Given the description of an element on the screen output the (x, y) to click on. 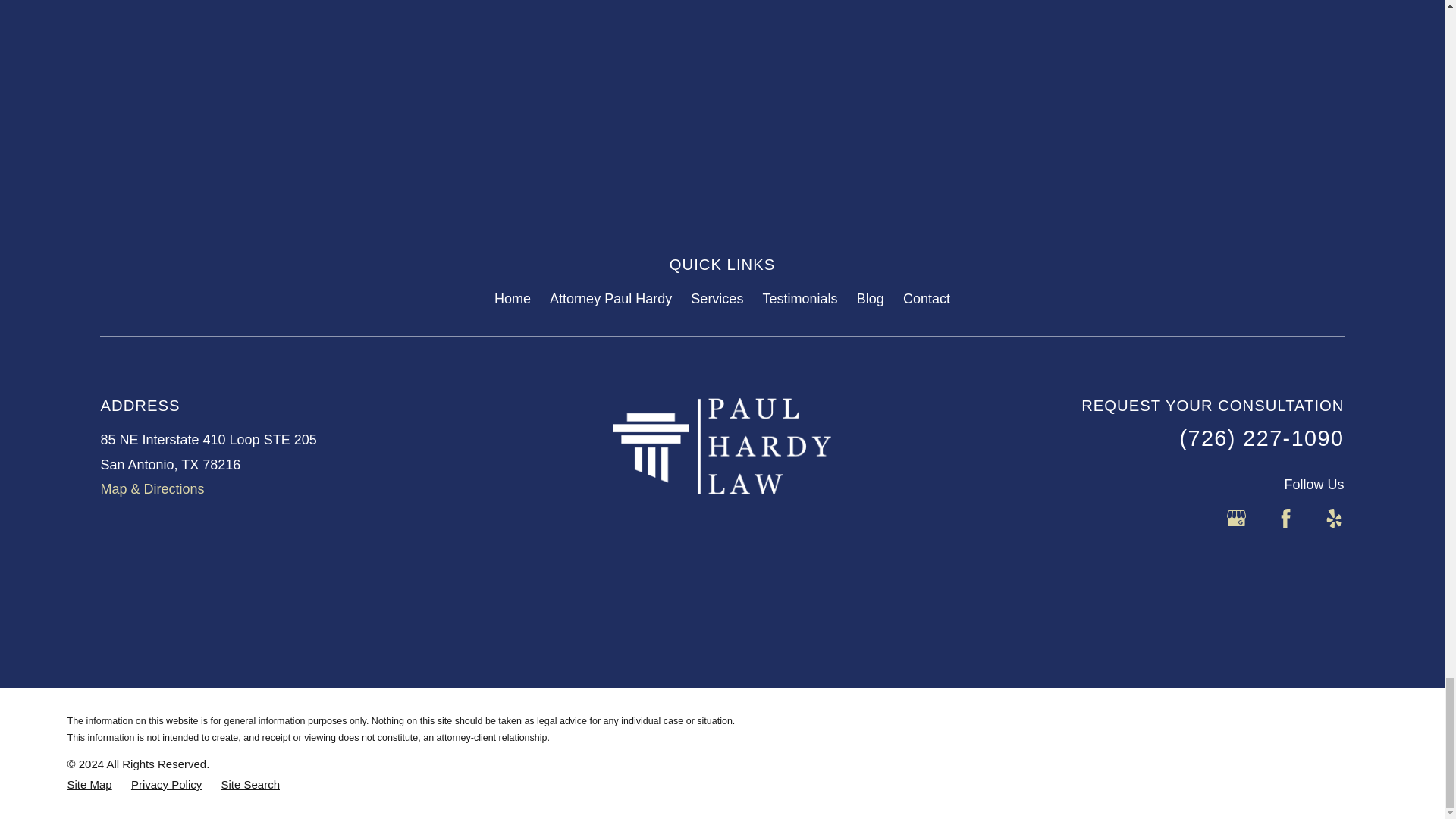
Facebook (1285, 517)
Google Business Profile (1236, 517)
Home (721, 446)
